Given the description of an element on the screen output the (x, y) to click on. 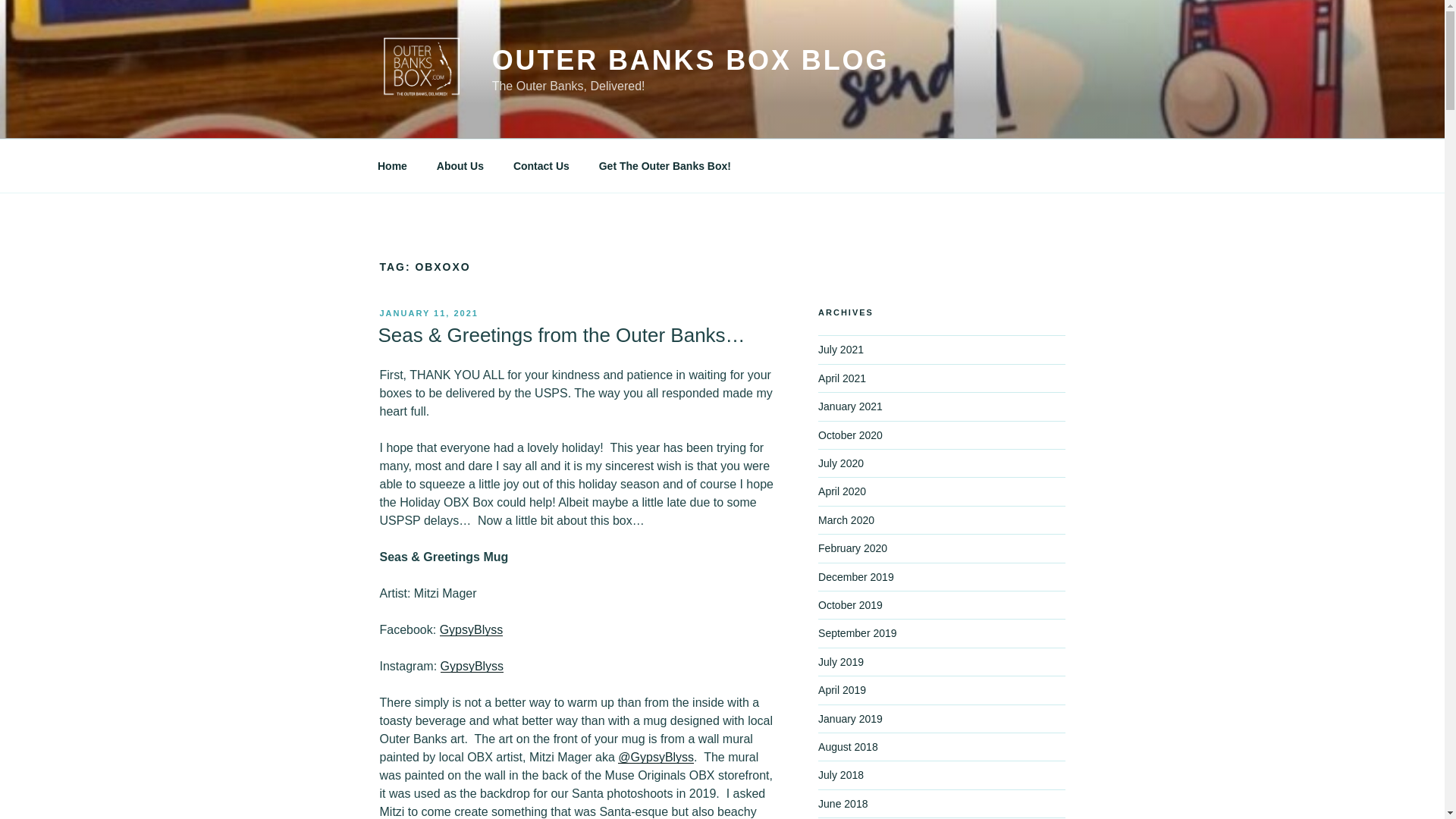
Get The Outer Banks Box! (664, 165)
Home (392, 165)
February 2020 (852, 548)
July 2021 (840, 349)
October 2020 (850, 435)
About Us (459, 165)
Contact Us (540, 165)
OUTER BANKS BOX BLOG (690, 60)
JANUARY 11, 2021 (427, 312)
July 2020 (840, 463)
